Given the description of an element on the screen output the (x, y) to click on. 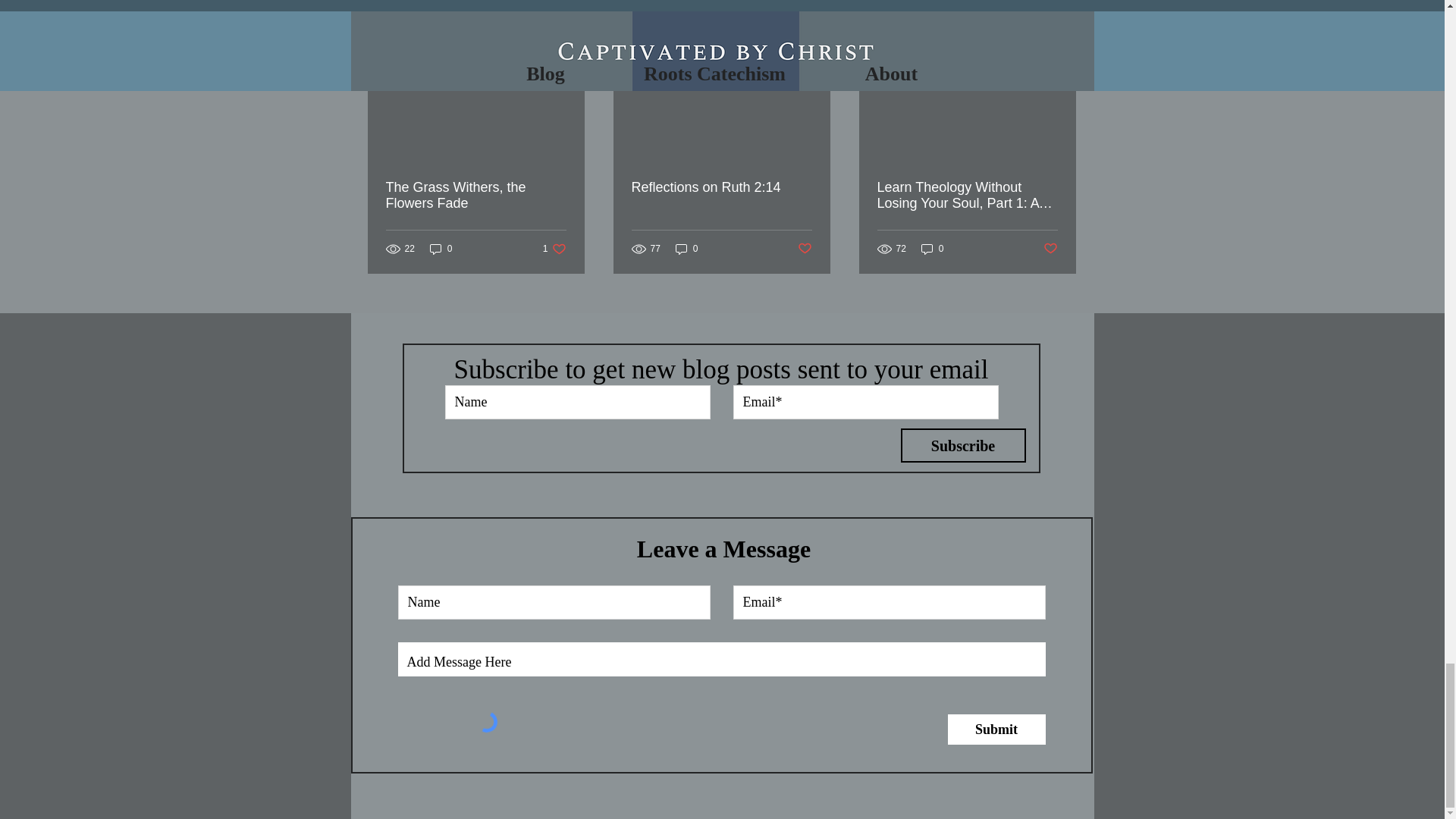
See All (1061, 11)
Subscribe (963, 445)
The Grass Withers, the Flowers Fade (554, 248)
0 (475, 195)
Submit (687, 248)
Post not marked as liked (996, 729)
Reflections on Ruth 2:14 (1050, 248)
0 (720, 187)
